Given the description of an element on the screen output the (x, y) to click on. 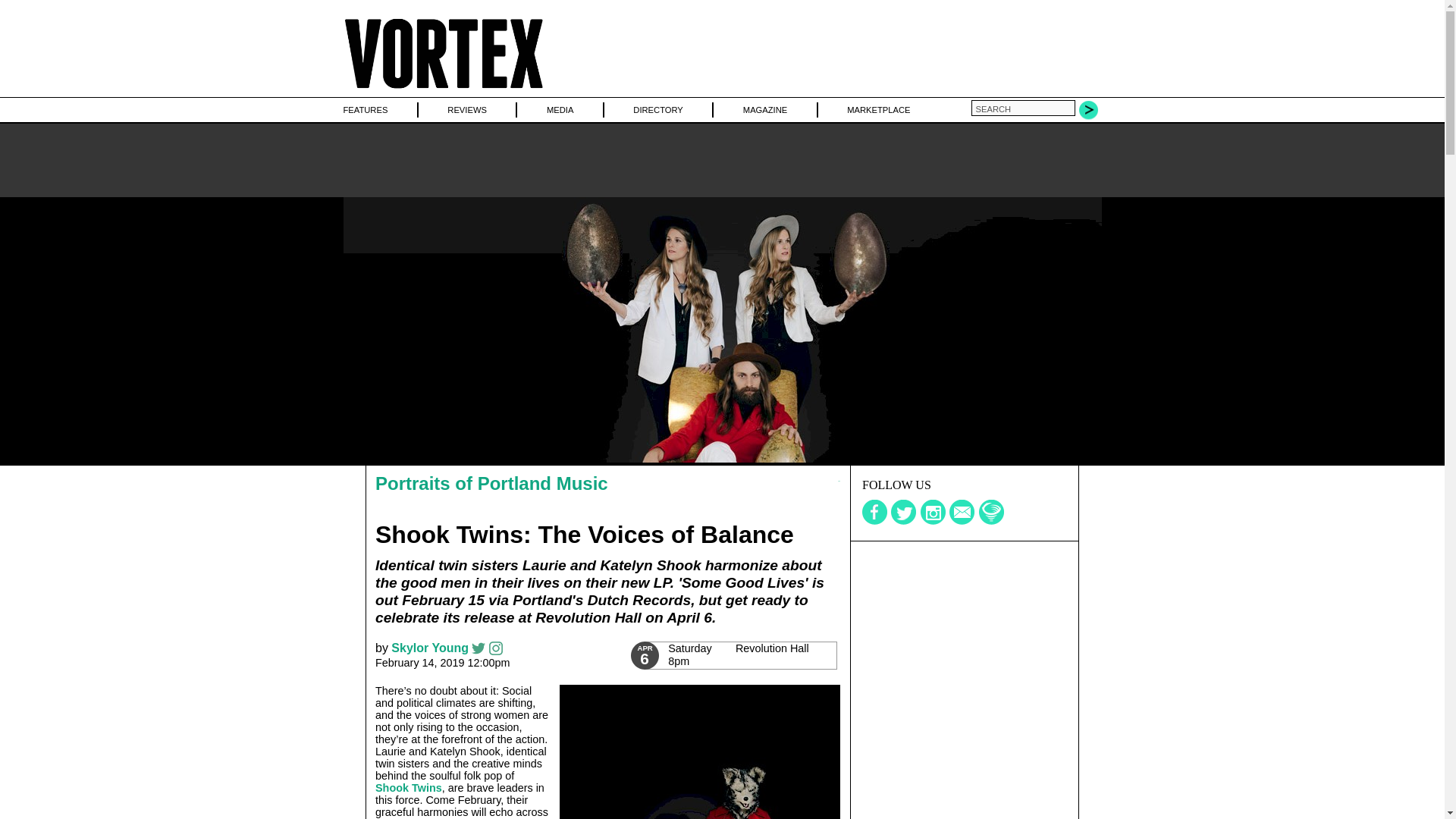
Shook Twins (408, 787)
DIRECTORY (657, 109)
MARKETPLACE (878, 109)
read more about Skylor Young (429, 647)
FEATURES (364, 109)
MAGAZINE (764, 109)
3rd party ad content (721, 160)
Home (442, 88)
3rd party ad content (964, 636)
Skylor Young (429, 647)
REVIEWS (739, 655)
MEDIA (466, 109)
Portraits of Portland Music (560, 109)
